Given the description of an element on the screen output the (x, y) to click on. 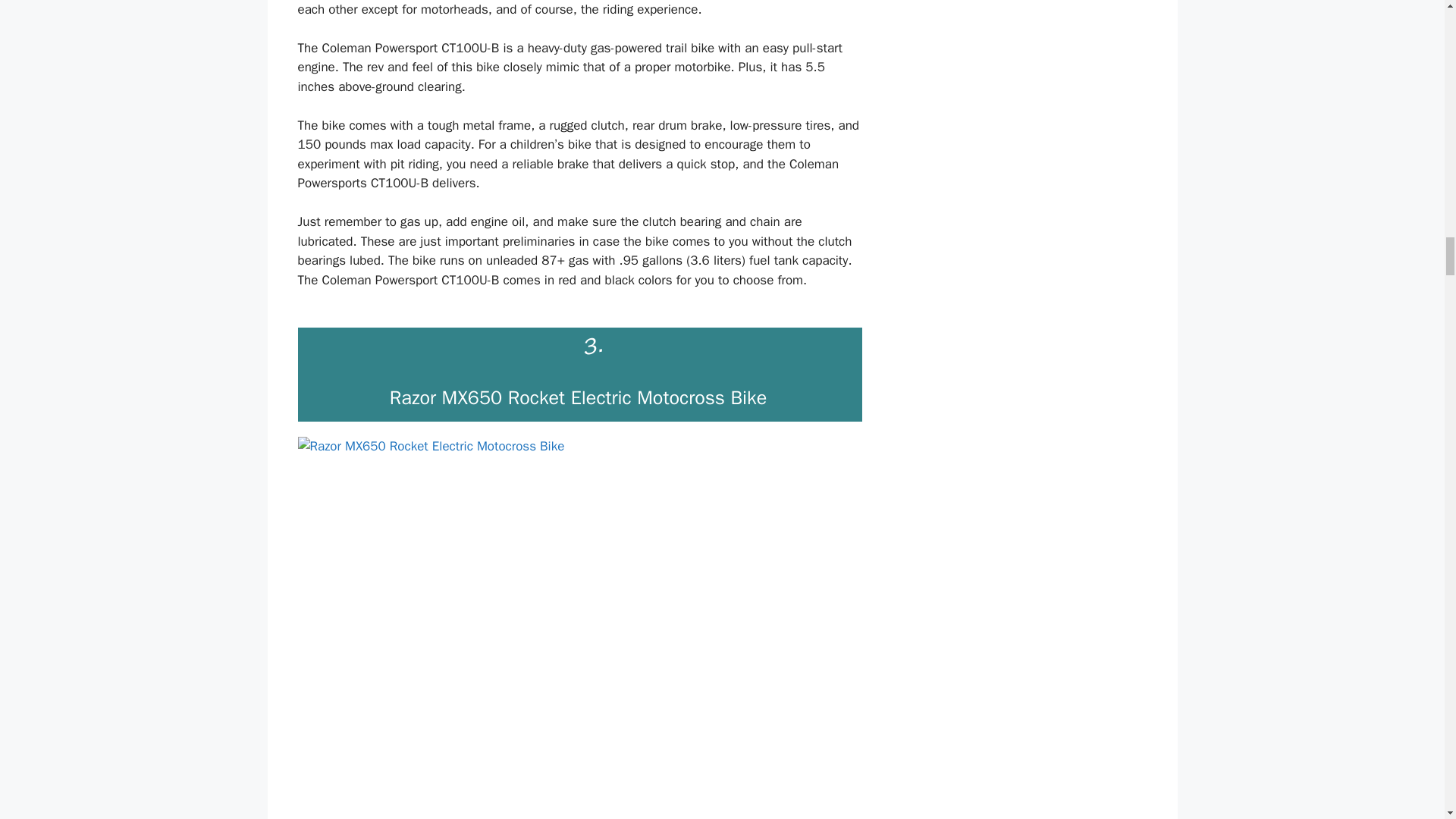
Razor MX650 Rocket Electric Motocross Bike (578, 397)
Razor MX650 Rocket Electric Motocross Bike (578, 397)
